Given the description of an element on the screen output the (x, y) to click on. 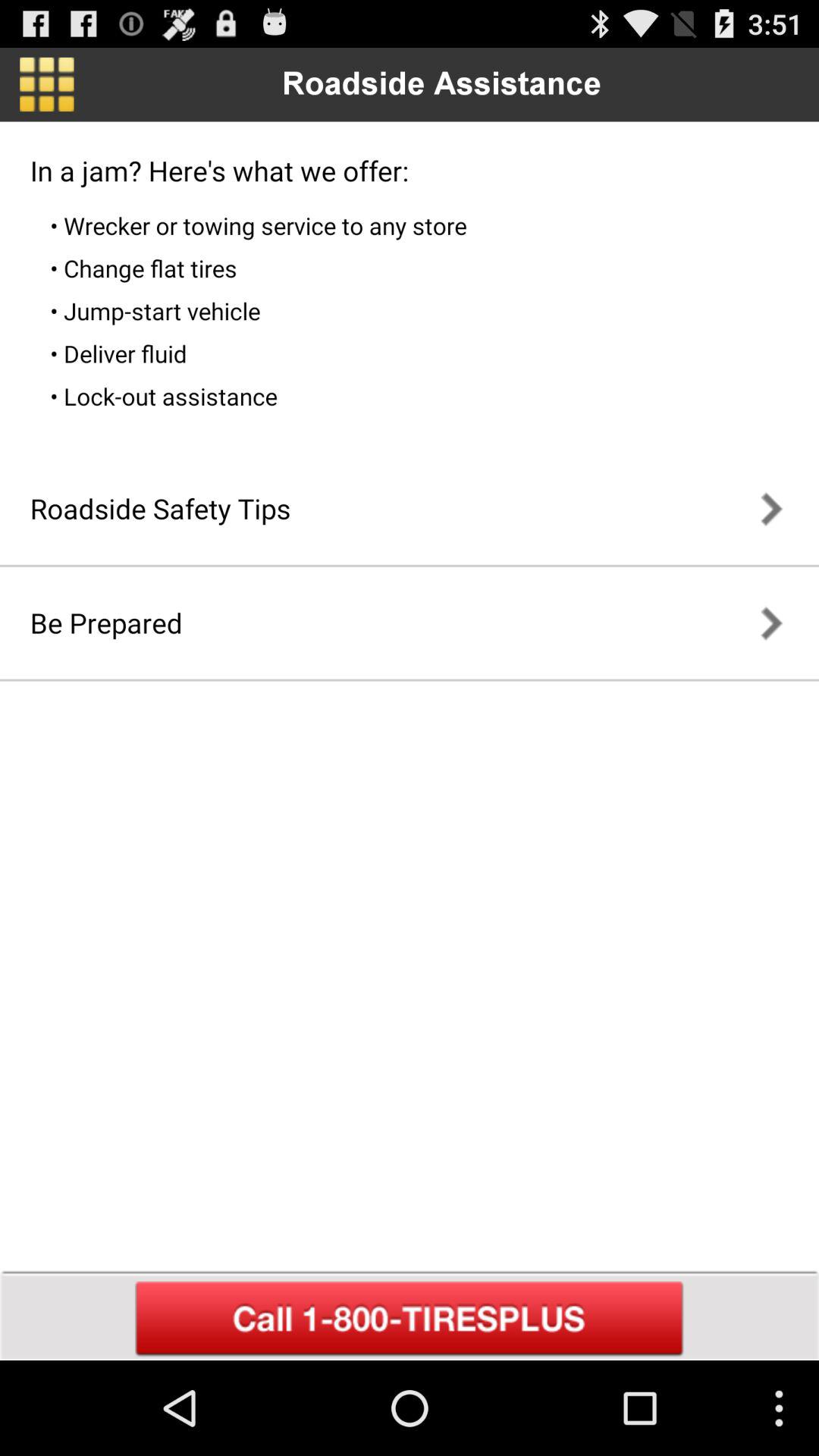
call assistance (409, 1319)
